Given the description of an element on the screen output the (x, y) to click on. 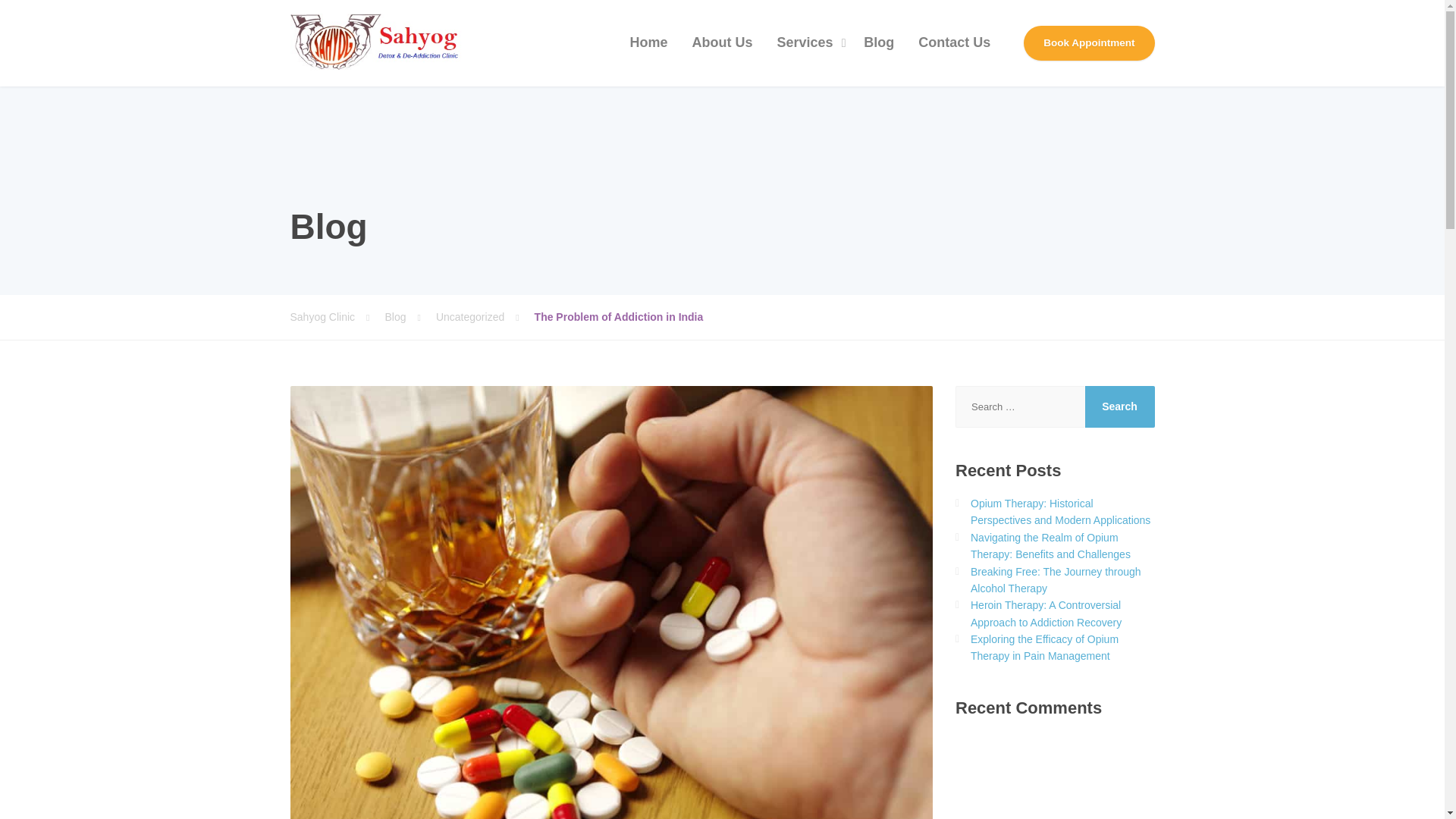
Go to Blog. (410, 316)
Sahyog Clinic (336, 316)
Search (1119, 406)
Uncategorized (484, 316)
About Us (721, 43)
Go to Sahyog Clinic. (336, 316)
Services (807, 43)
Book Appointment (1088, 42)
Blog (410, 316)
Sahyog Clinic (376, 42)
